Given the description of an element on the screen output the (x, y) to click on. 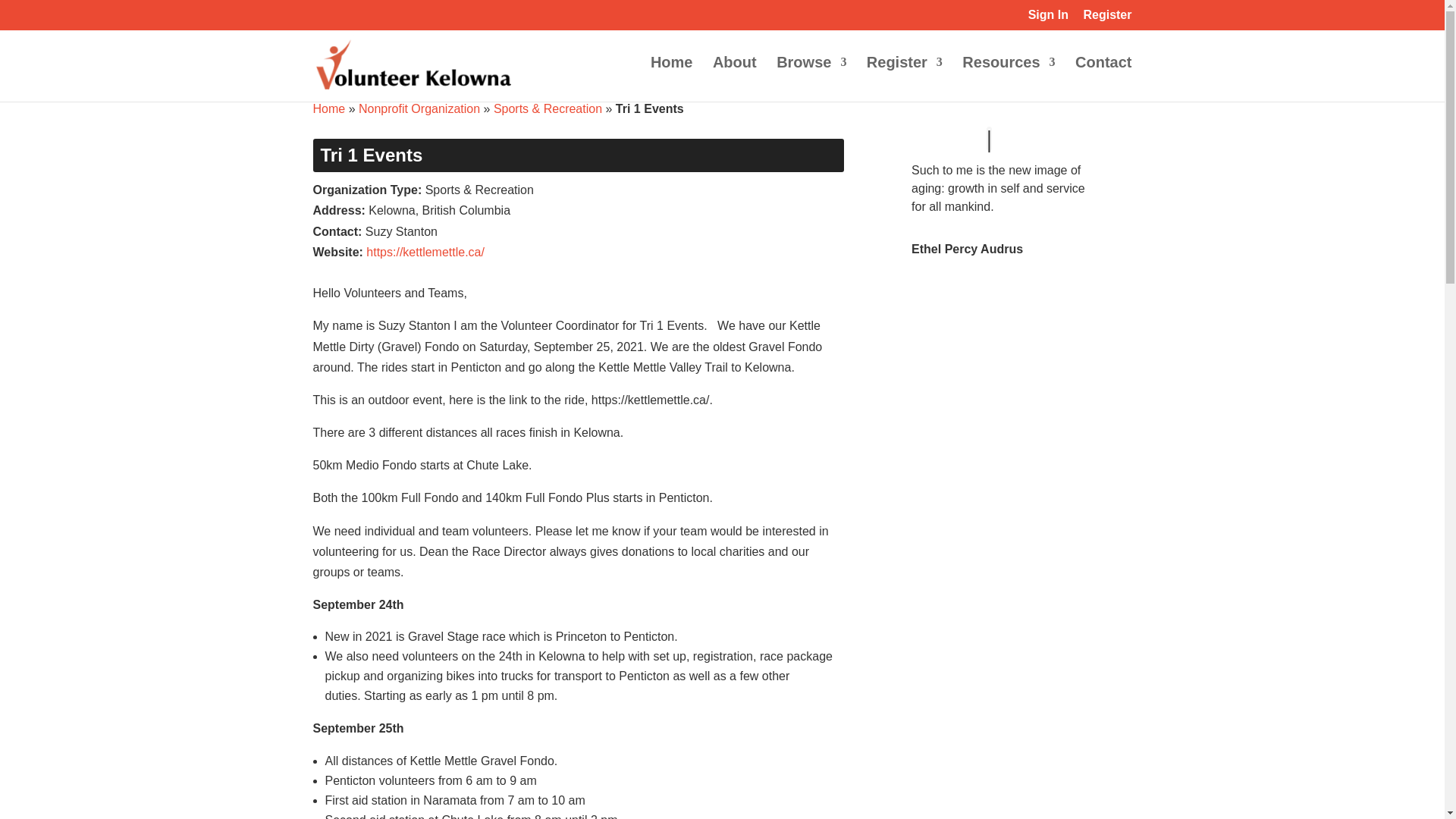
Contact (1103, 78)
Home (671, 78)
About (735, 78)
Register (1107, 19)
Sign In (1047, 19)
Register (904, 78)
Nonprofit Organization (419, 108)
Home (329, 108)
Browse (810, 78)
Resources (1008, 78)
